Given the description of an element on the screen output the (x, y) to click on. 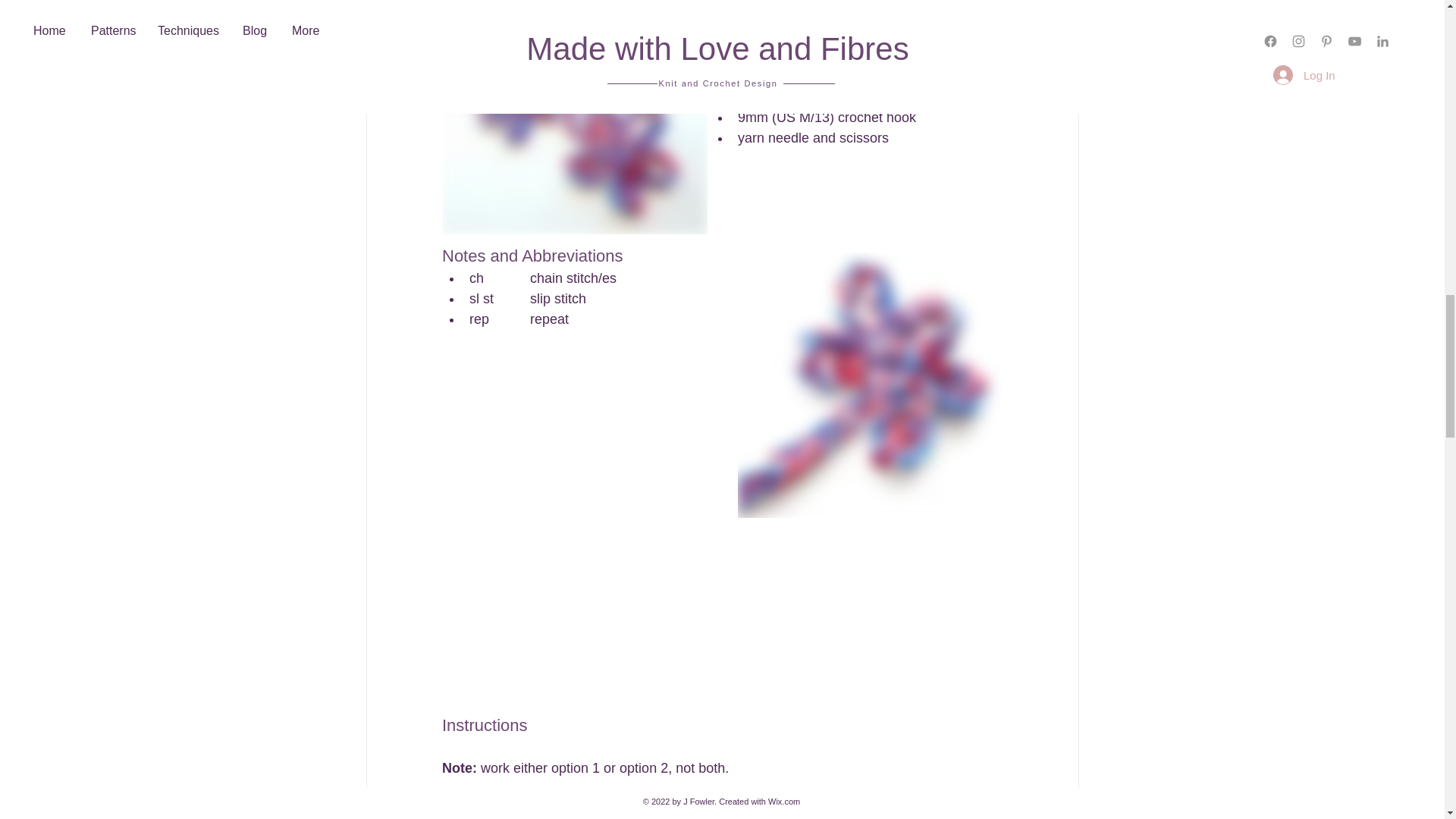
remote content (722, 619)
